Given the description of an element on the screen output the (x, y) to click on. 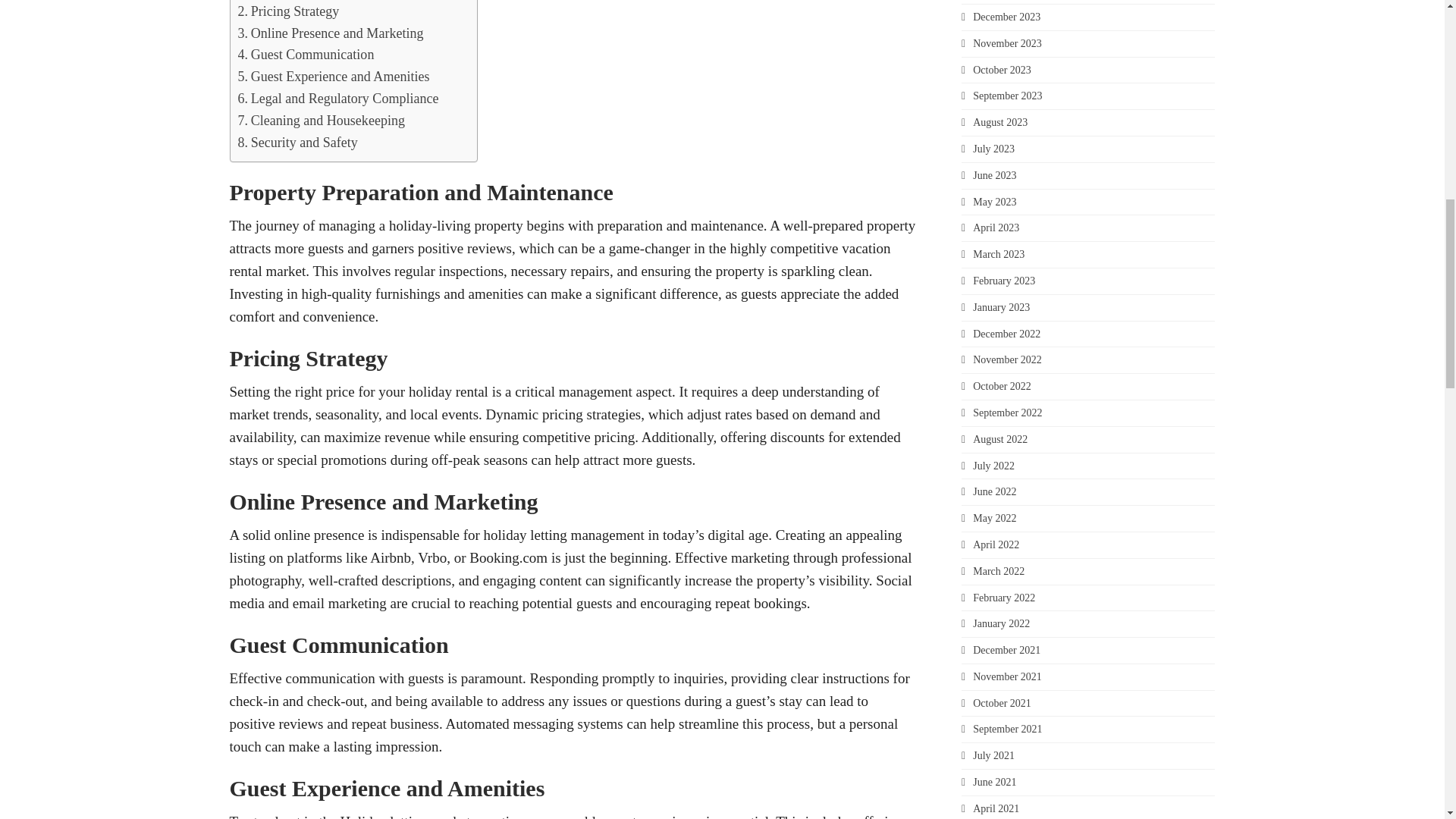
Online Presence and Marketing (330, 33)
Guest Communication (306, 55)
Cleaning and Housekeeping (321, 120)
Legal and Regulatory Compliance (338, 98)
Pricing Strategy (288, 11)
Guest Experience and Amenities (333, 76)
Security and Safety (298, 142)
